Given the description of an element on the screen output the (x, y) to click on. 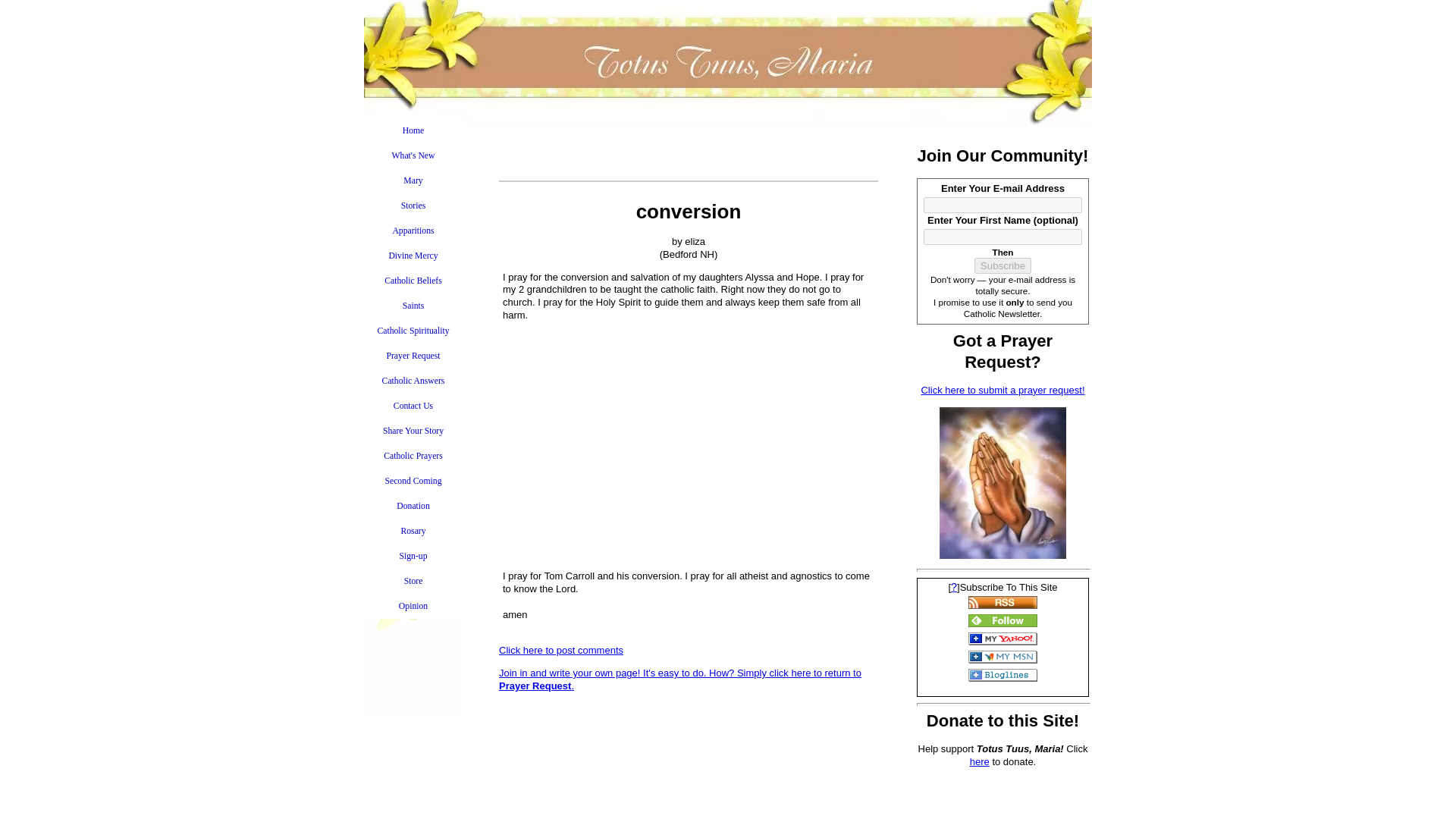
Click here to submit a prayer request! (1002, 389)
Apparitions (413, 230)
Home (413, 130)
Saints (413, 305)
Second Coming (413, 480)
Stories (413, 205)
Advertisement (687, 450)
Store (413, 580)
Prayer Request (413, 355)
Contact Us (413, 405)
